Given the description of an element on the screen output the (x, y) to click on. 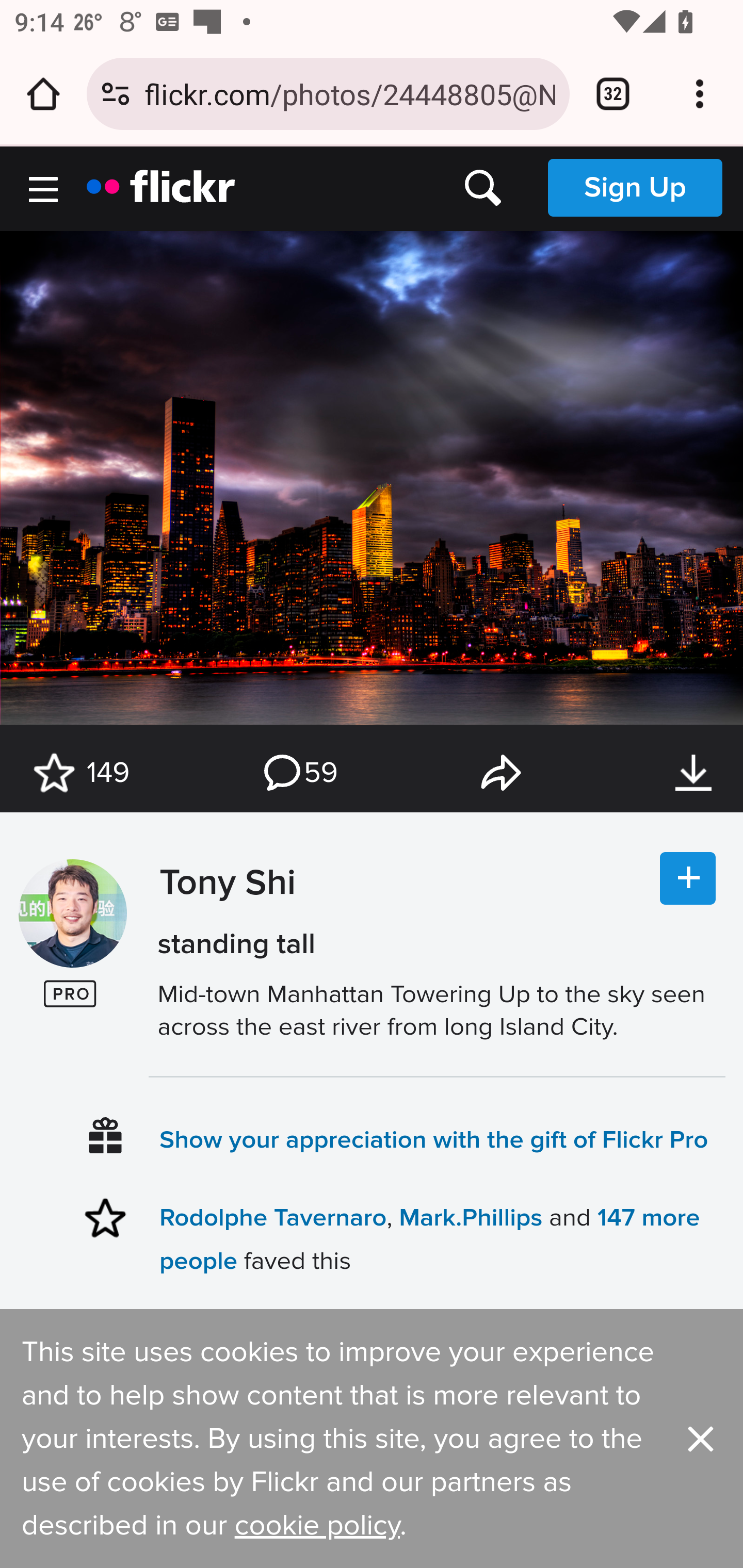
Open the home page (43, 93)
Connection is secure (115, 93)
Switch or close tabs (612, 93)
Customize and control Google Chrome (699, 93)
flickr.com/photos/24448805@N07/2909441524 (349, 92)
Sign Up Sign Up Sign Up (634, 187)
59 (299, 772)
Download this photo (692, 772)
Follow (687, 878)
tonyshi (72, 914)
Show your appreciation with the gift of Flickr Pro (434, 1138)
147 more people (429, 1238)
